Given the description of an element on the screen output the (x, y) to click on. 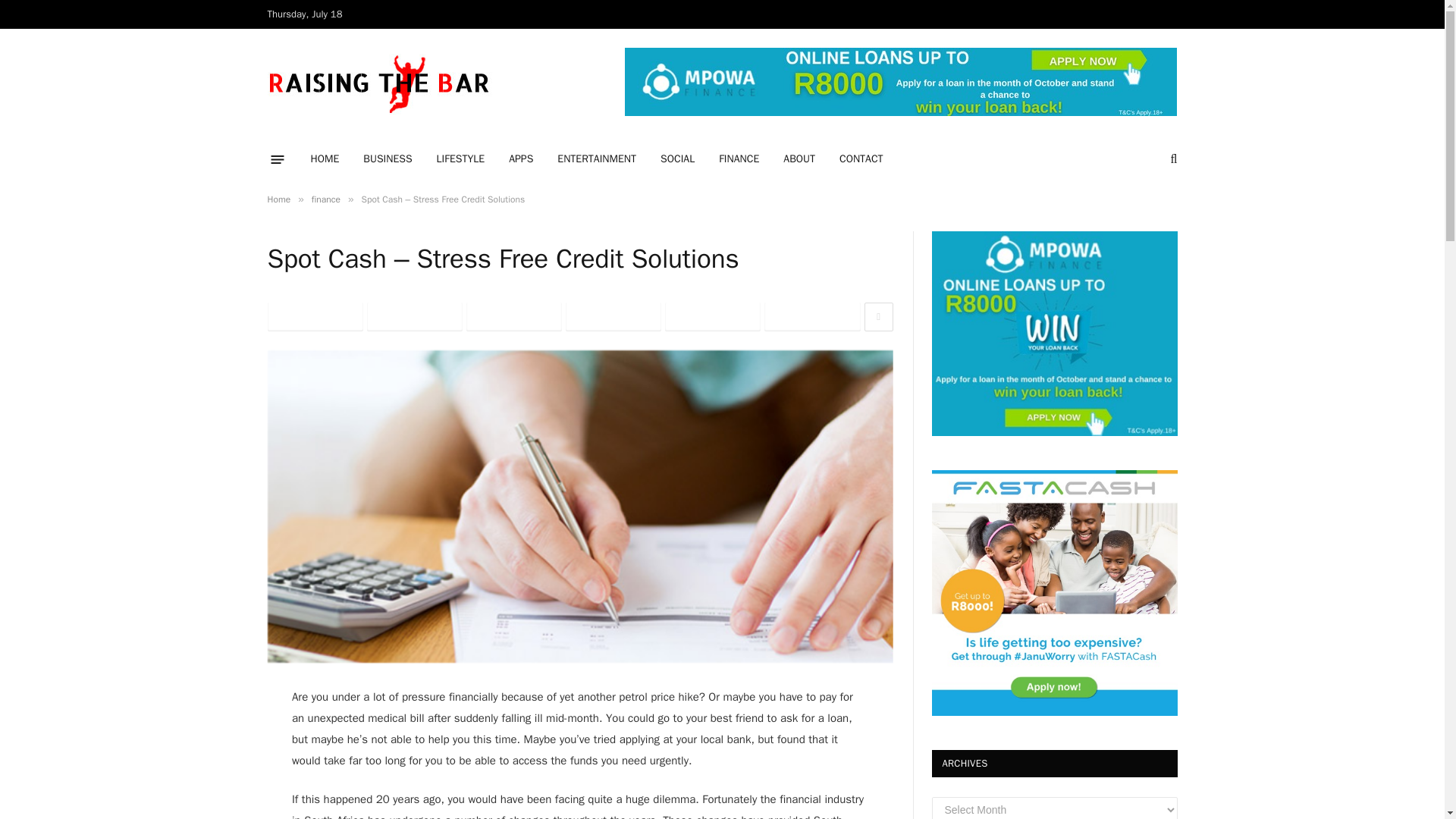
RtB (380, 83)
Home (277, 199)
finance (325, 199)
Tumblr (712, 316)
Email (812, 316)
Facebook (314, 316)
Show More Social Sharing (878, 316)
ENTERTAINMENT (595, 159)
Share on Tumblr (712, 316)
Twitter (414, 316)
Share via Email (812, 316)
Share on LinkedIn (613, 316)
SOCIAL (676, 159)
LIFESTYLE (461, 159)
FINANCE (738, 159)
